Given the description of an element on the screen output the (x, y) to click on. 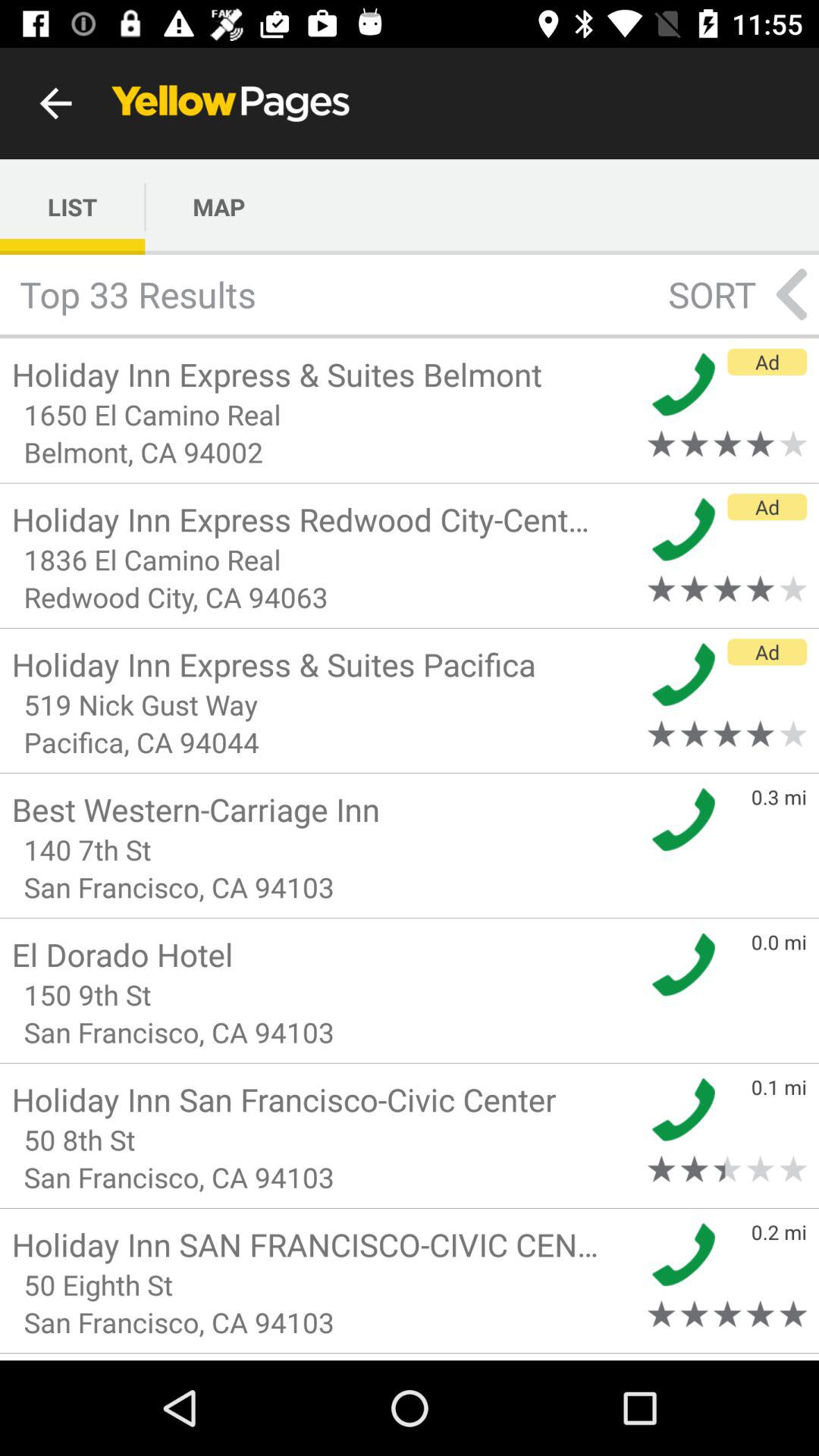
flip to 519 nick gust item (324, 704)
